Given the description of an element on the screen output the (x, y) to click on. 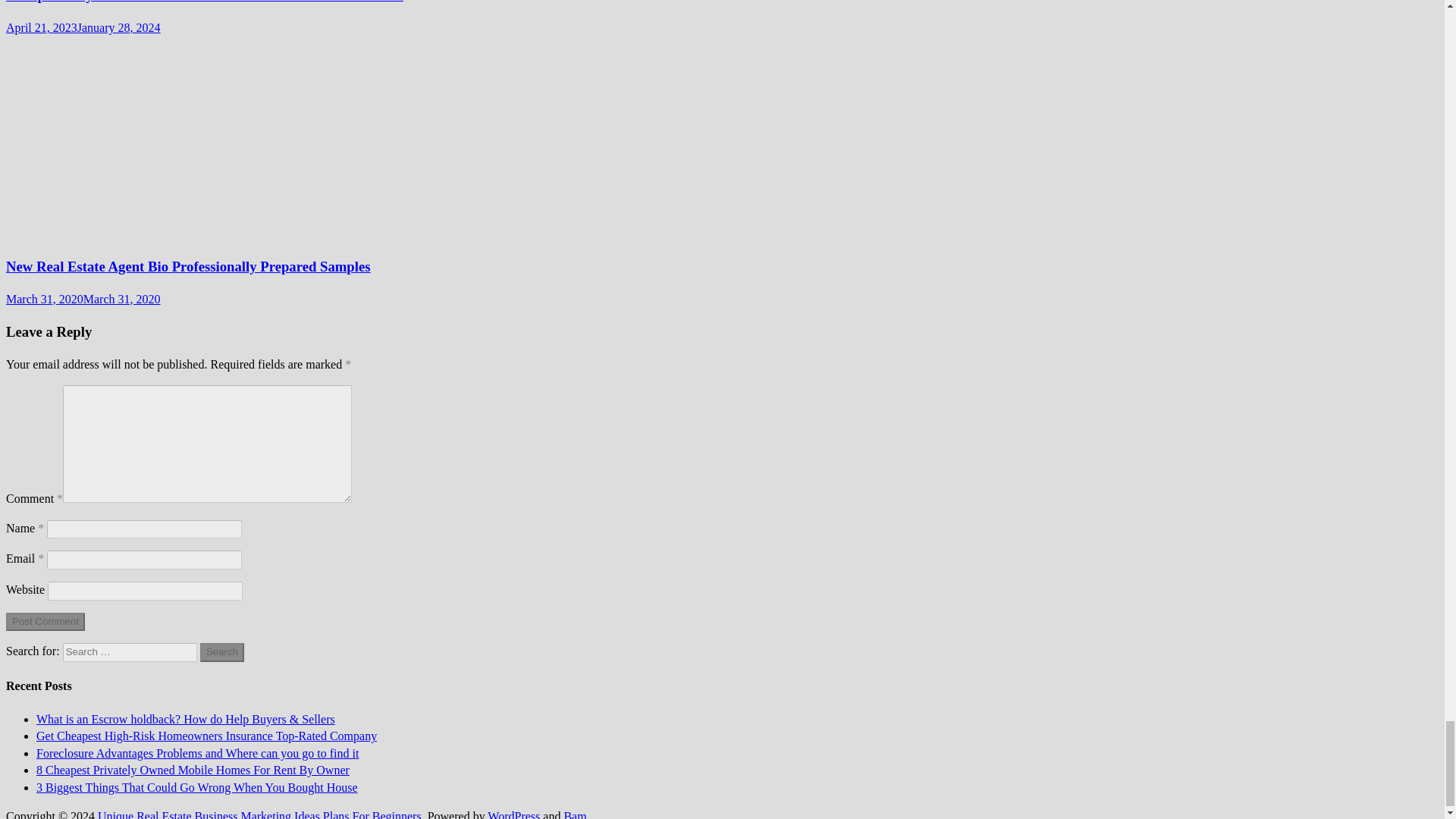
Search (222, 651)
Post Comment (44, 621)
New Real Estate Agent Bio Professionally Prepared Samples (188, 266)
Search (222, 651)
